Given the description of an element on the screen output the (x, y) to click on. 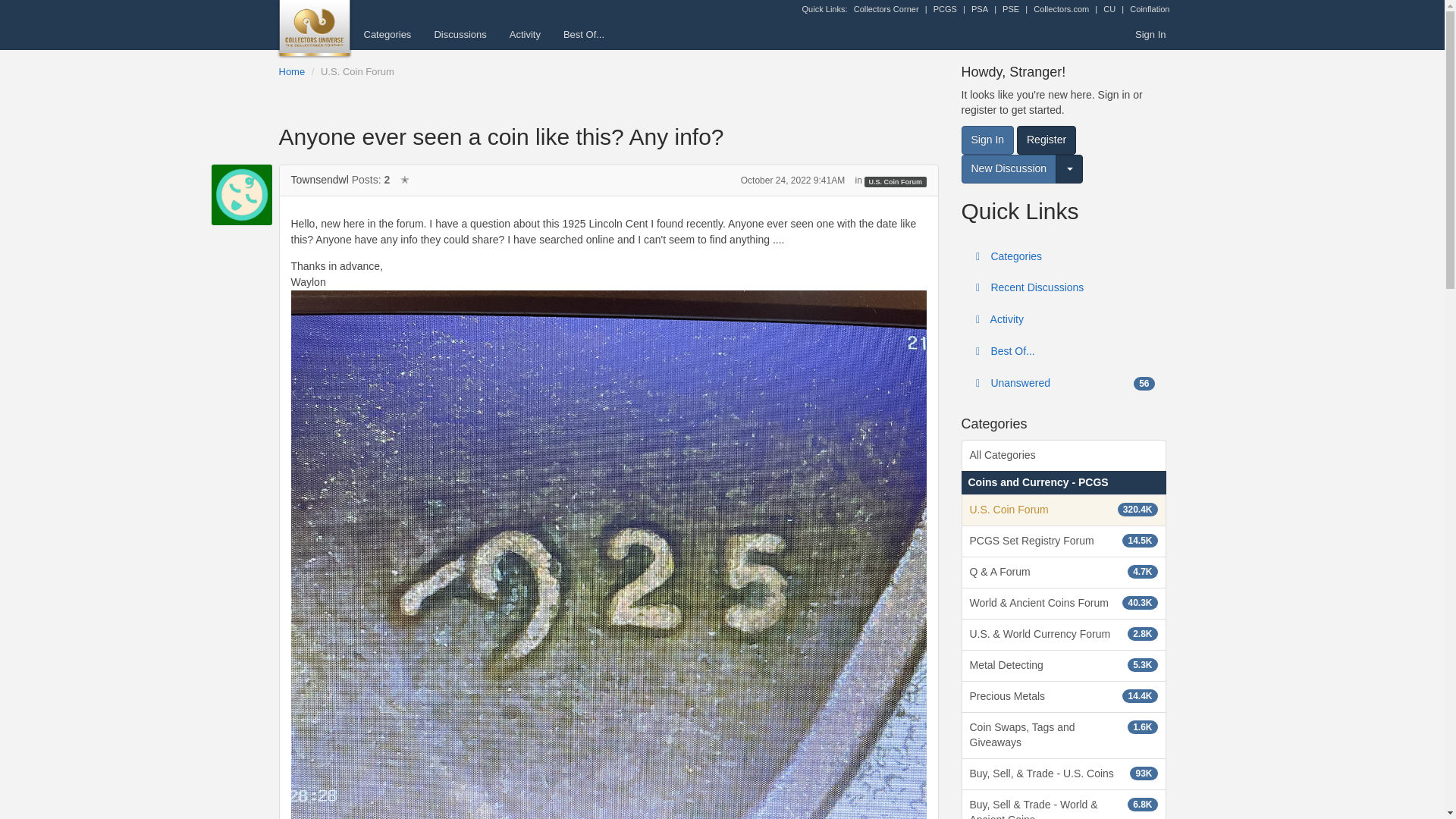
U.S. Coin Forum (357, 71)
PCGS - Professional Coin Grading (944, 8)
PSE - Professional Stamp Experts (1011, 8)
Categories (387, 34)
Collectors Corner (885, 8)
Collectors.com (1061, 8)
PCGS (944, 8)
Home (292, 71)
Coinflation (1149, 8)
Sign In (1150, 34)
